Given the description of an element on the screen output the (x, y) to click on. 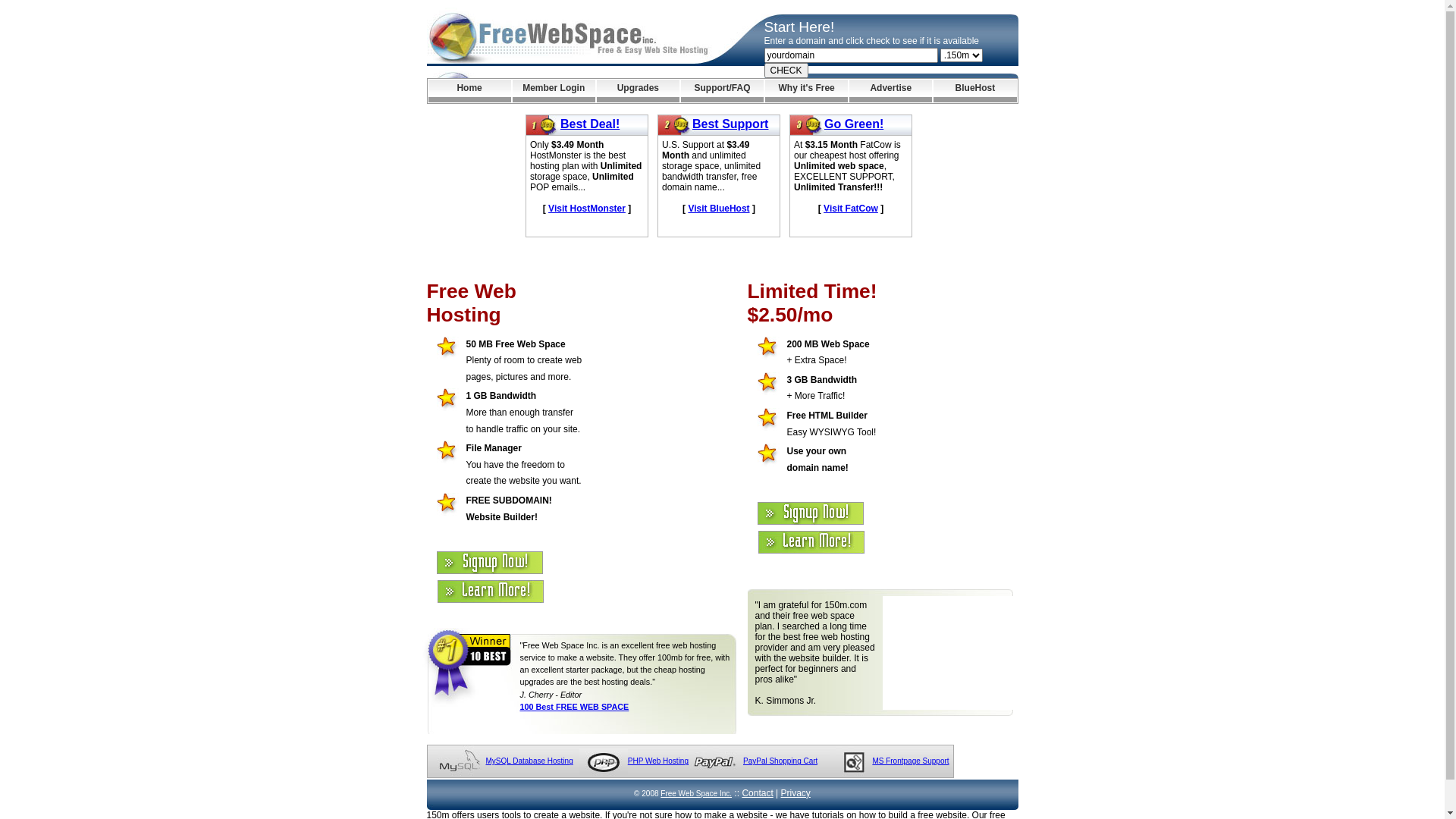
PayPal Shopping Cart Element type: text (780, 760)
CHECK Element type: text (786, 70)
Free Web Space Inc. Element type: text (695, 793)
Home Element type: text (468, 90)
MS Frontpage Support Element type: text (910, 760)
Upgrades Element type: text (637, 90)
MySQL Database Hosting Element type: text (528, 760)
Member Login Element type: text (553, 90)
Why it's Free Element type: text (806, 90)
Advertise Element type: text (890, 90)
PHP Web Hosting Element type: text (657, 760)
BlueHost Element type: text (974, 90)
Support/FAQ Element type: text (721, 90)
Contact Element type: text (756, 792)
Privacy Element type: text (795, 792)
100 Best FREE WEB SPACE Element type: text (574, 706)
